Given the description of an element on the screen output the (x, y) to click on. 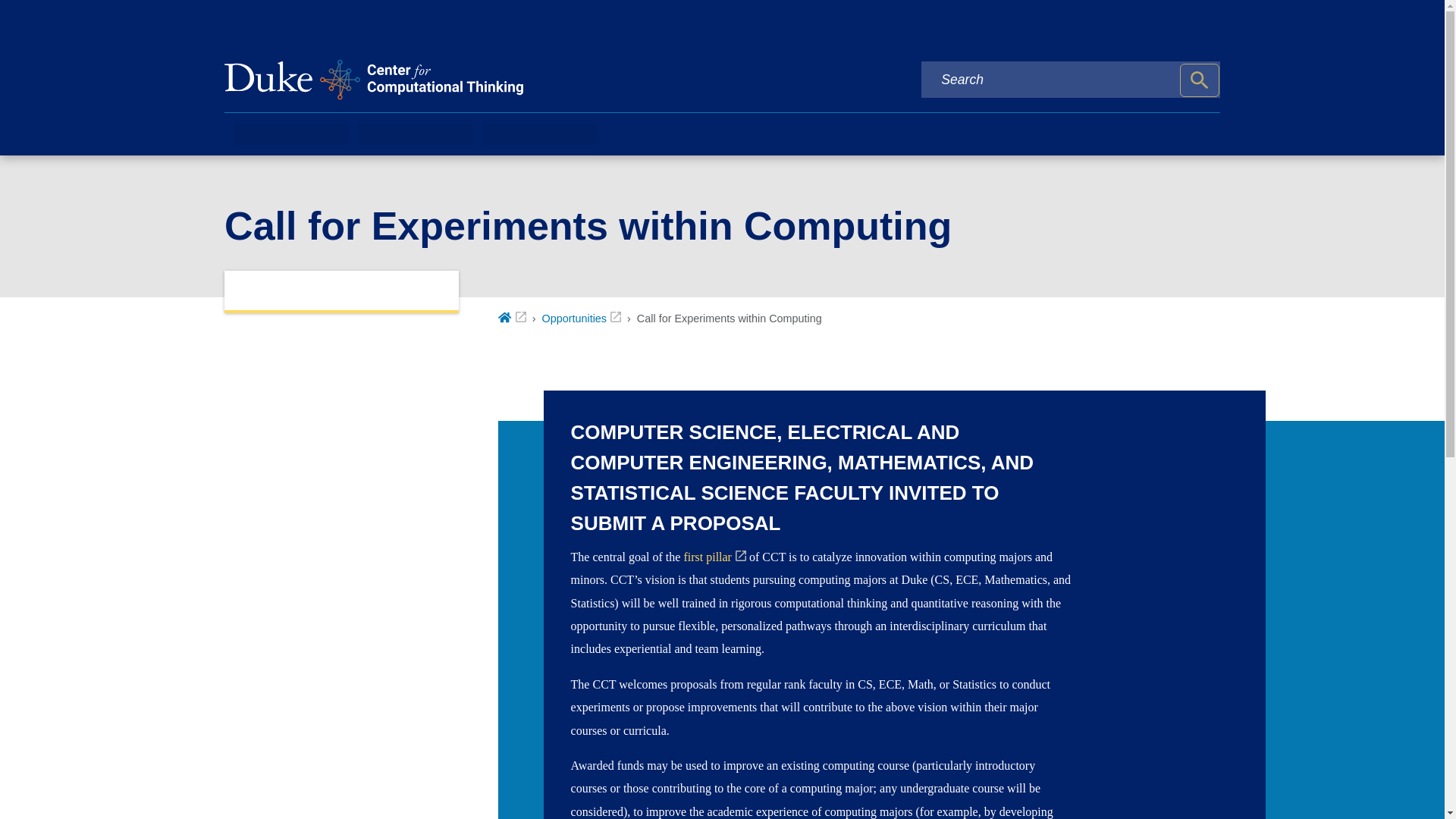
first pillar (713, 556)
Home (511, 318)
Pillar 1 (713, 556)
Opportunities (581, 318)
